Given the description of an element on the screen output the (x, y) to click on. 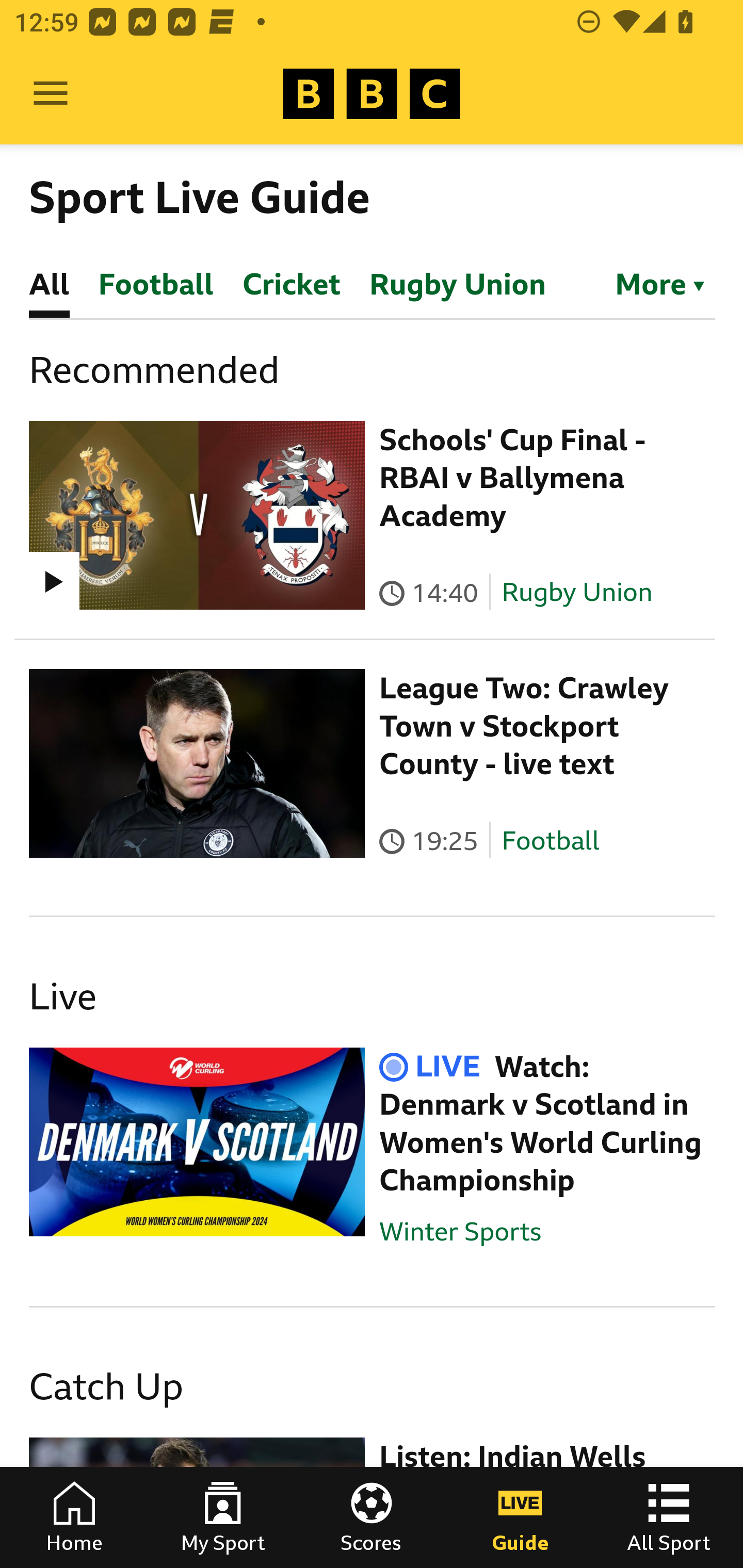
Open Menu (50, 93)
Schools' Cup Final - RBAI v Ballymena Academy (512, 477)
Rugby Union (576, 591)
Football (550, 840)
Winter Sports (459, 1230)
Home (74, 1517)
My Sport (222, 1517)
Scores (371, 1517)
All Sport (668, 1517)
